Given the description of an element on the screen output the (x, y) to click on. 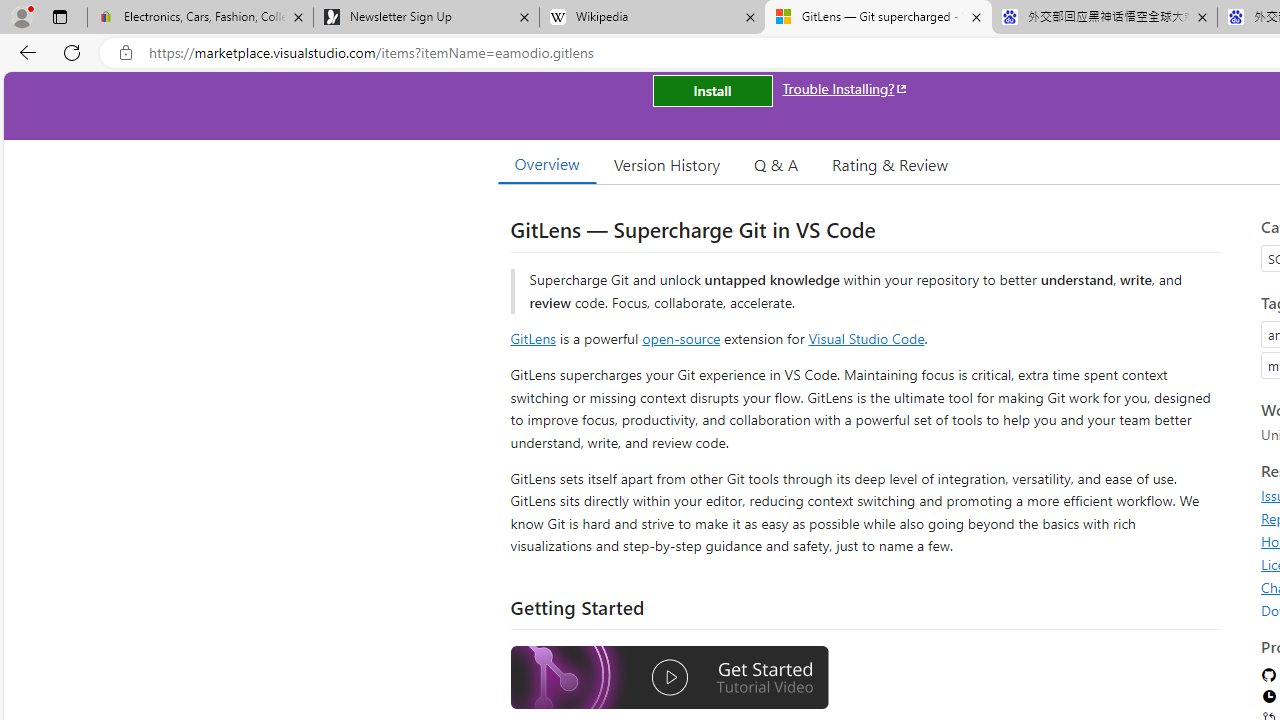
Electronics, Cars, Fashion, Collectibles & More | eBay (200, 17)
Watch the GitLens Getting Started video (669, 678)
Wikipedia (652, 17)
Q & A (776, 164)
Visual Studio Code (866, 337)
